Given the description of an element on the screen output the (x, y) to click on. 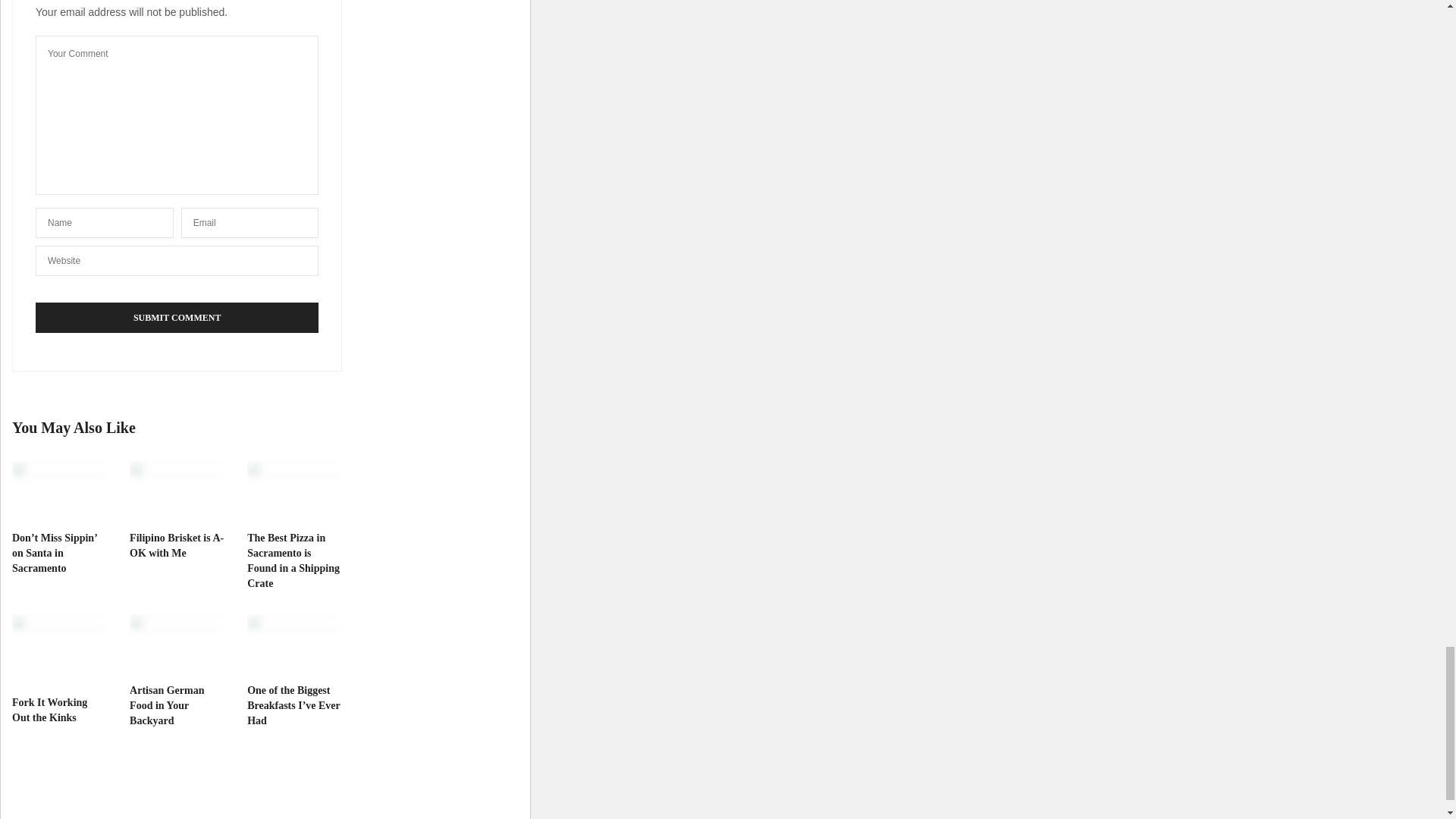
Submit Comment (176, 317)
